Given the description of an element on the screen output the (x, y) to click on. 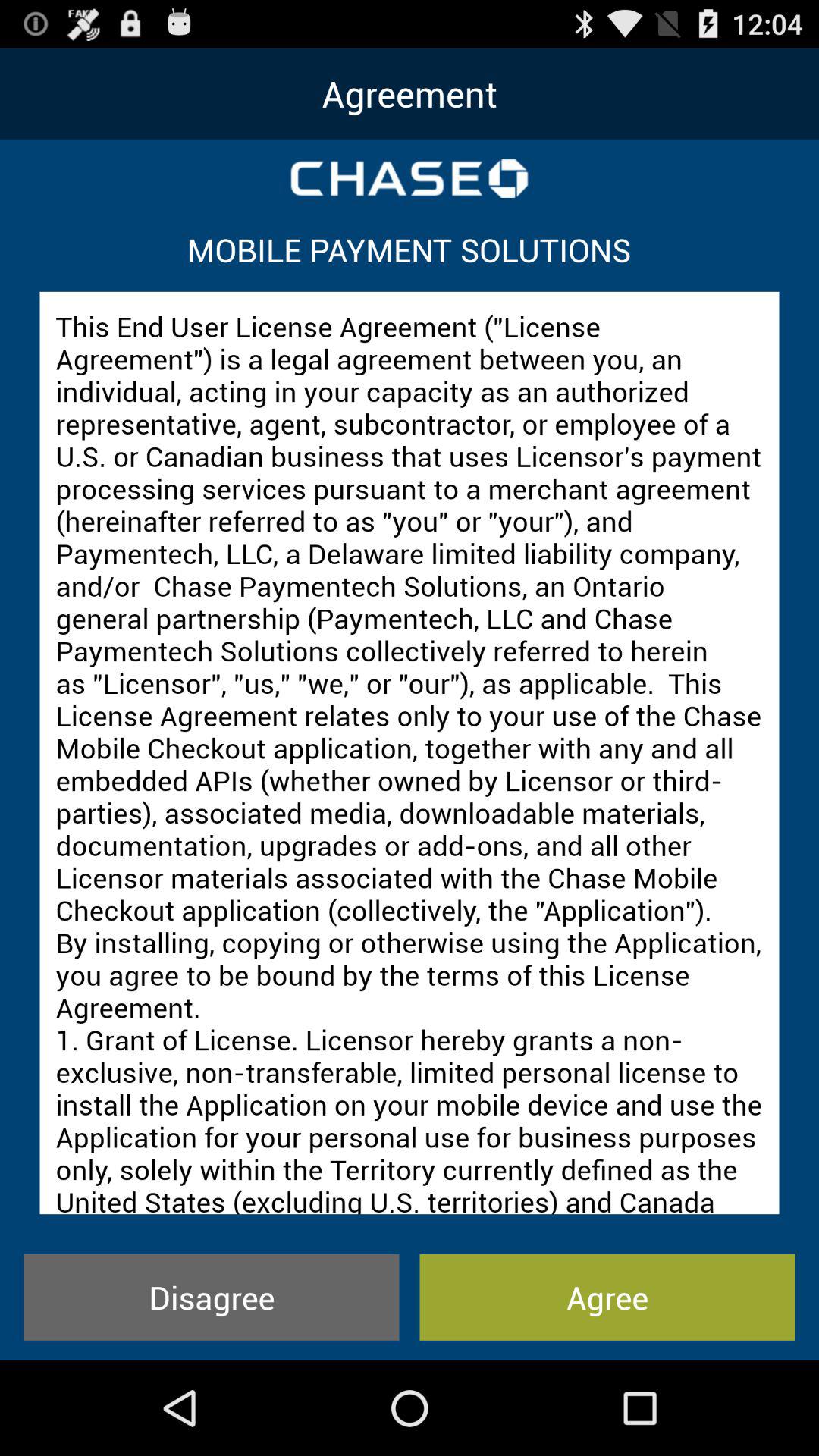
jump until agree item (607, 1297)
